Given the description of an element on the screen output the (x, y) to click on. 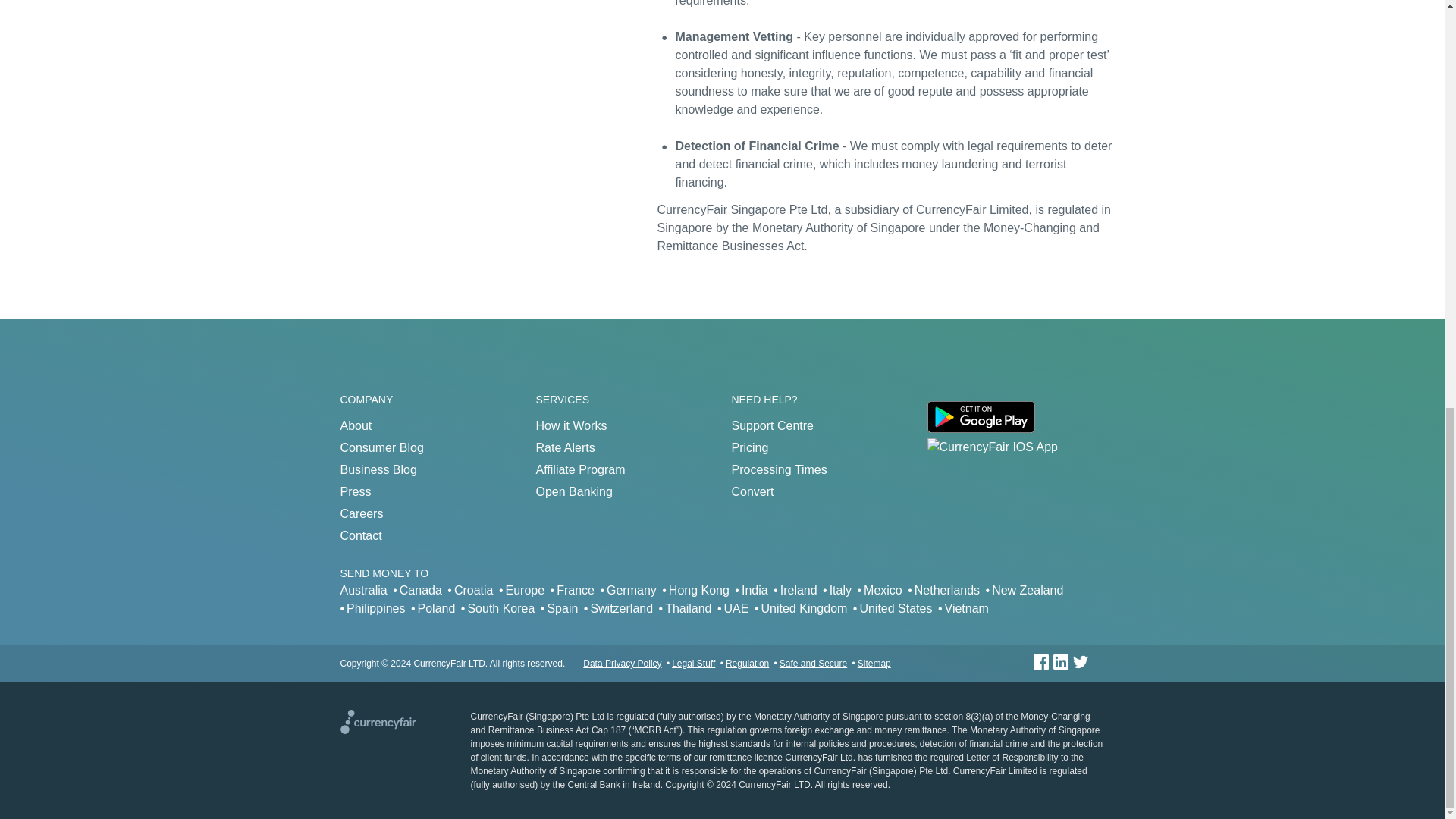
Ireland (798, 589)
Legal Stuff (692, 663)
Convert (751, 490)
Australia (363, 589)
Germany (631, 589)
Business Blog (377, 469)
India (754, 589)
Careers (360, 513)
Get the app on Android (979, 428)
Processing Times (778, 469)
Rate Alerts (564, 446)
Rate Alerts (564, 446)
Regulation (746, 663)
Safe and Secure (812, 663)
About (355, 425)
